Given the description of an element on the screen output the (x, y) to click on. 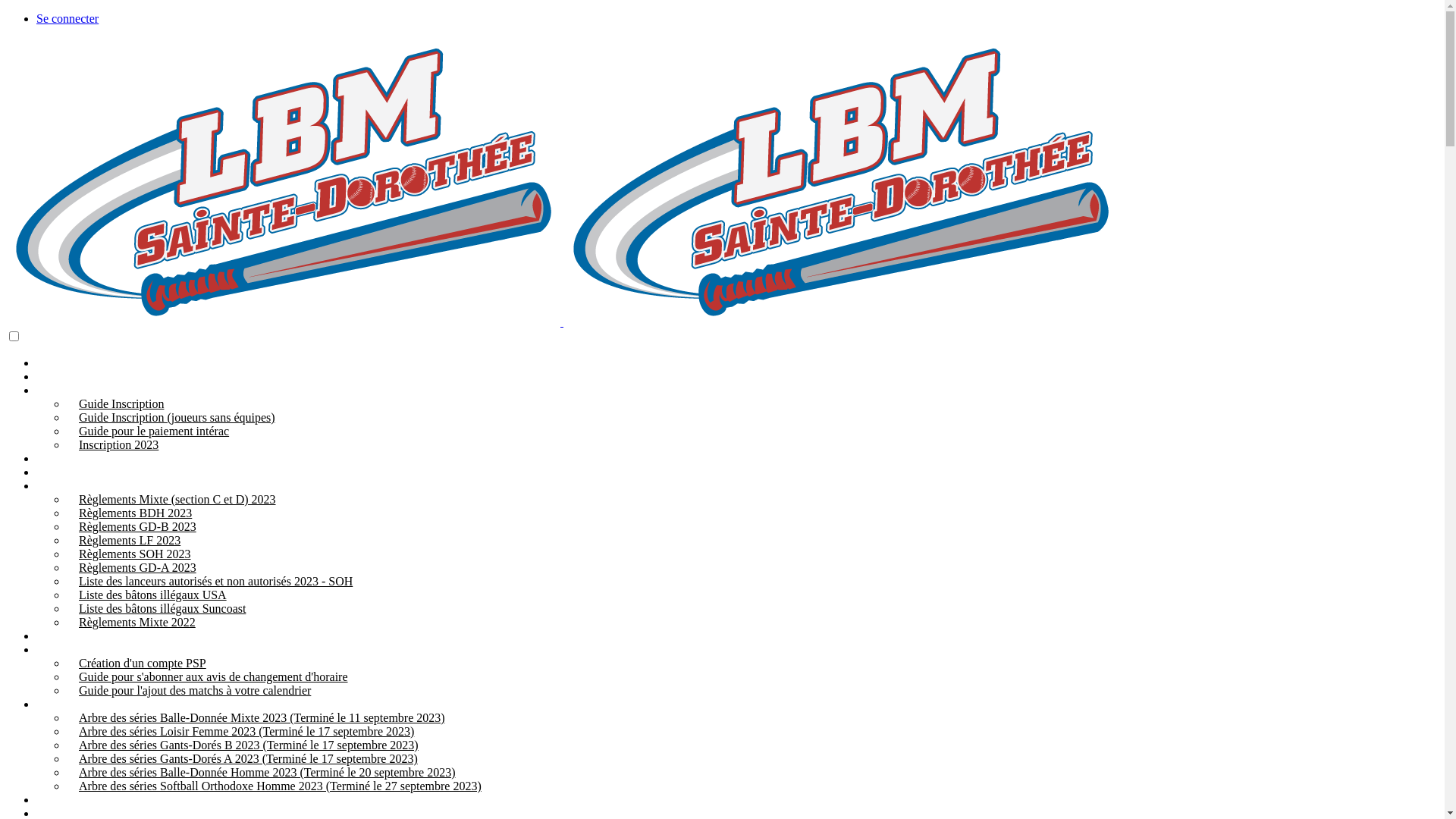
Guide Inscription Element type: text (114, 403)
Photos Element type: text (52, 457)
Guides d'aide Element type: text (69, 649)
Guide pour s'abonner aux avis de changement d'horaire Element type: text (207, 676)
Contacts Element type: text (57, 635)
Se connecter Element type: text (67, 18)
Nouvelles Element type: text (60, 376)
Documents Element type: text (63, 471)
Accueil Element type: text (55, 362)
Inscription 2023 Element type: text (112, 444)
Inscription Element type: text (62, 389)
